Given the description of an element on the screen output the (x, y) to click on. 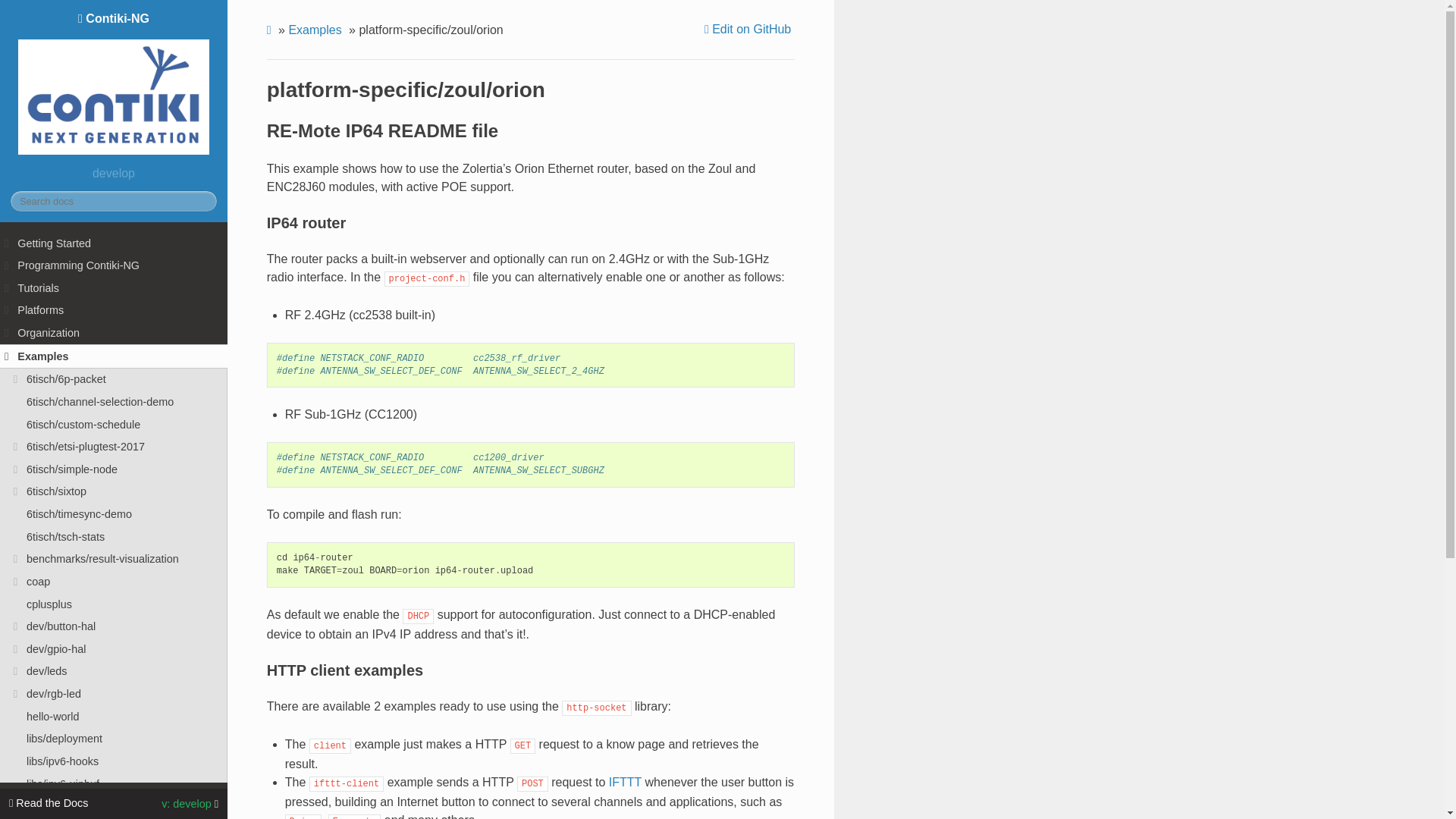
Contiki-NG (113, 85)
Getting Started (113, 242)
